Given the description of an element on the screen output the (x, y) to click on. 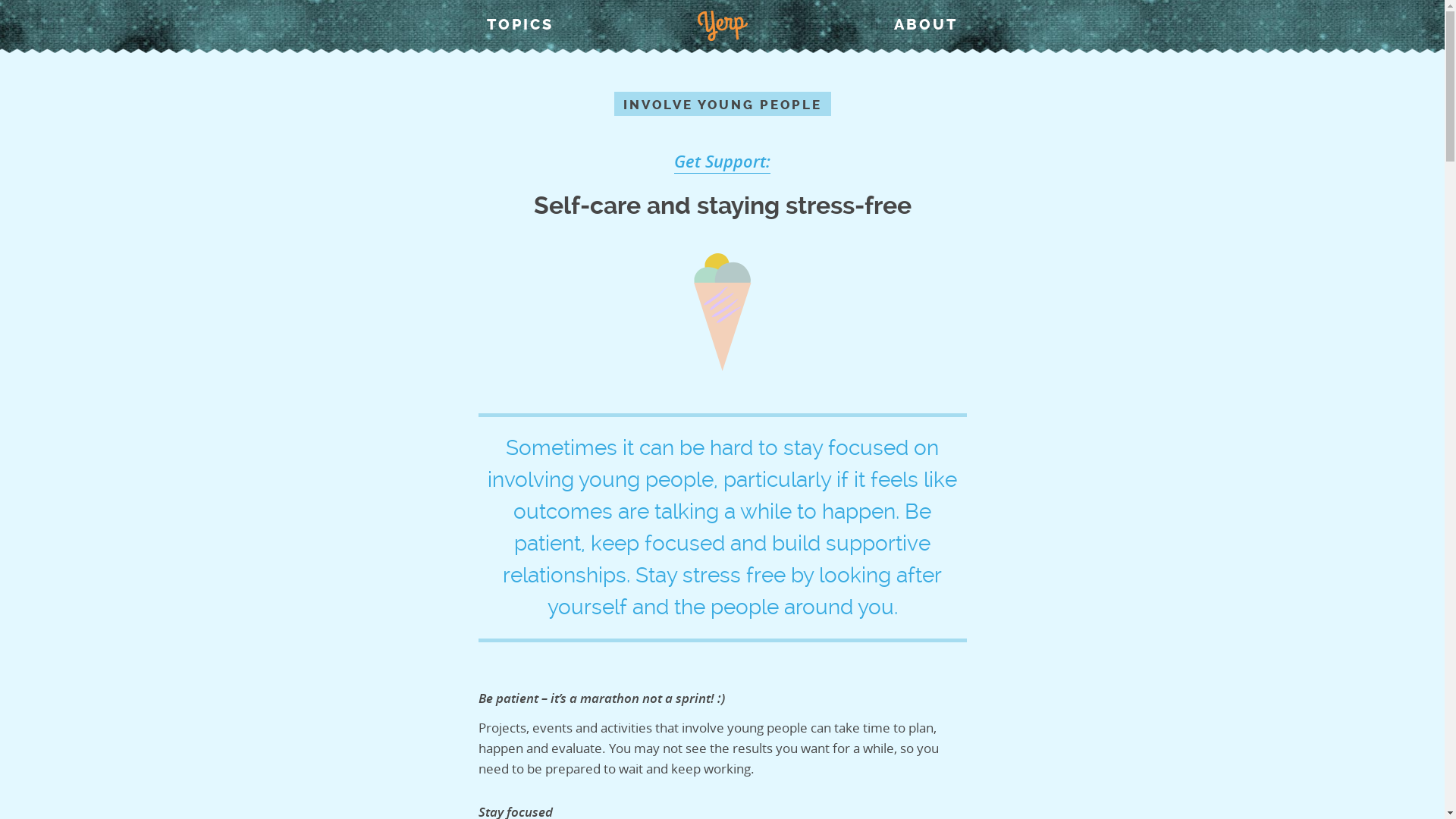
TOPICS Element type: text (519, 23)
Get Support: Element type: text (722, 161)
ABOUT Element type: text (925, 23)
